Given the description of an element on the screen output the (x, y) to click on. 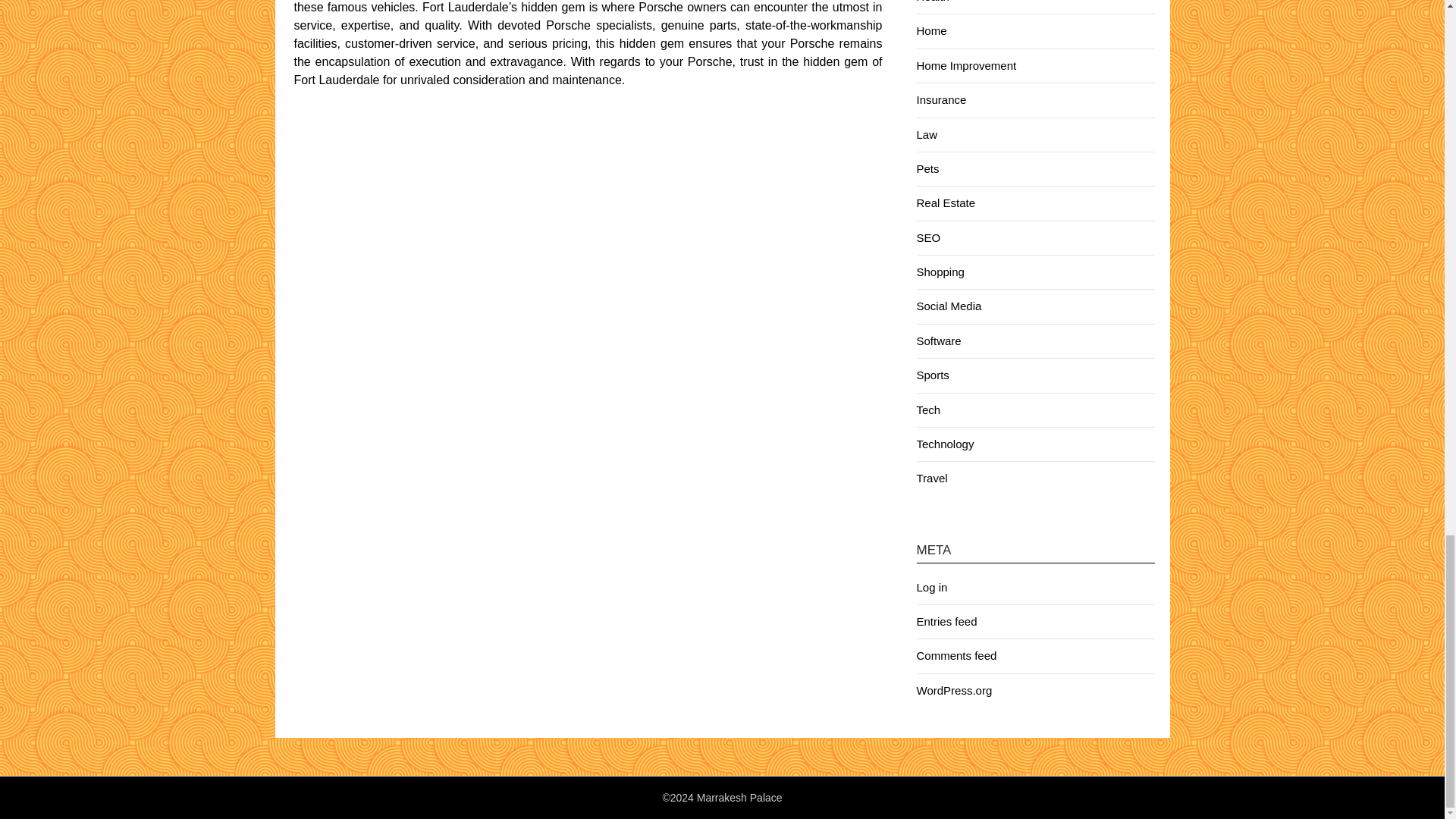
Shopping (939, 271)
SEO (927, 237)
Law (926, 133)
Home (930, 30)
Pets (927, 168)
Insurance (940, 99)
Health (932, 1)
Home Improvement (965, 65)
Social Media (948, 305)
Real Estate (945, 202)
